Given the description of an element on the screen output the (x, y) to click on. 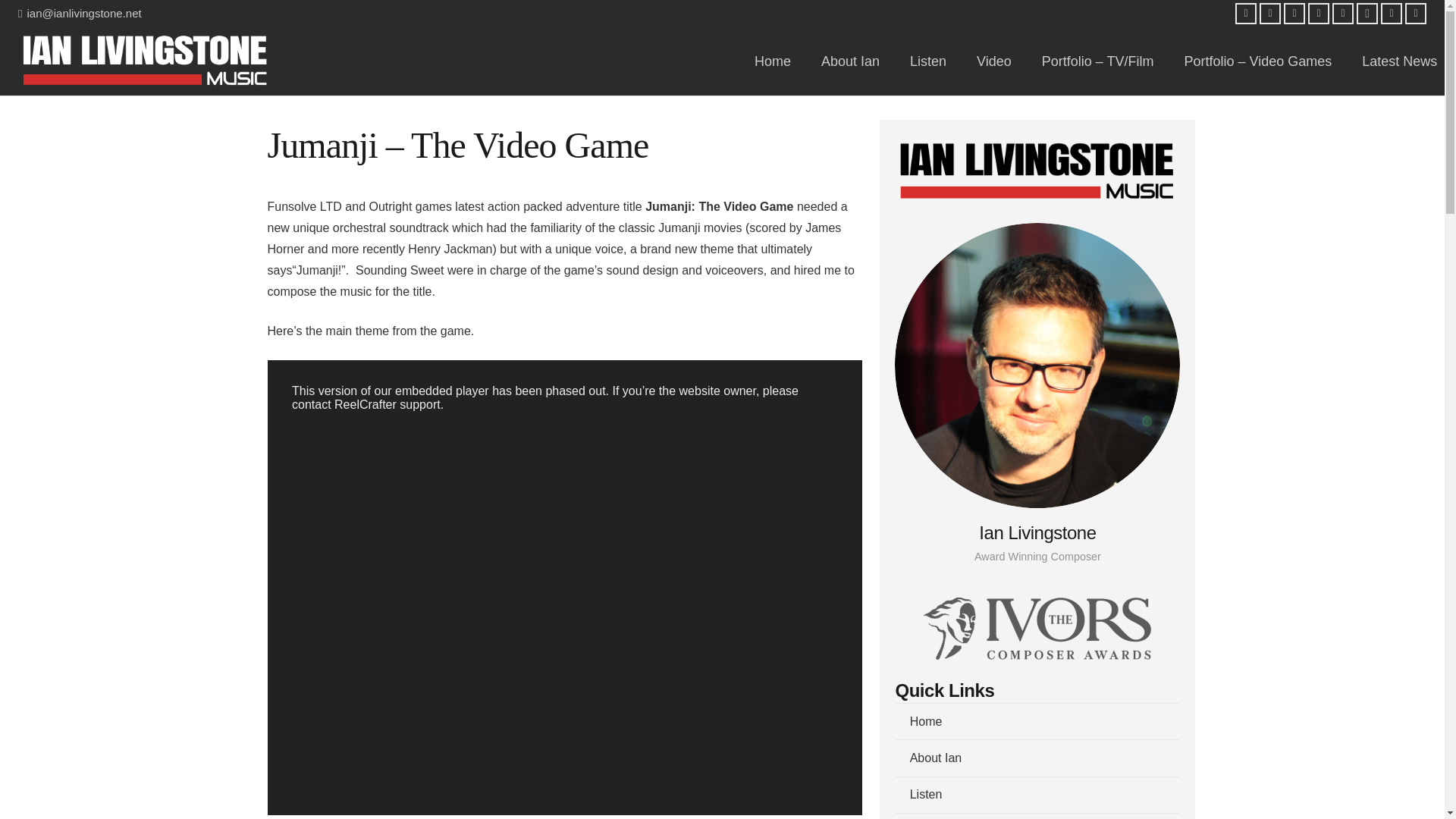
Video (993, 61)
Listen (927, 61)
LinkedIn (1294, 13)
Facebook (1245, 13)
Home (1037, 720)
YouTube (1318, 13)
Instagram (1366, 13)
Home (772, 61)
Moby Games (1391, 13)
About Ian (850, 61)
Wikipedia (1415, 13)
IMDb (1343, 13)
Listen (1037, 794)
About Ian (1037, 757)
Twitter (1270, 13)
